Given the description of an element on the screen output the (x, y) to click on. 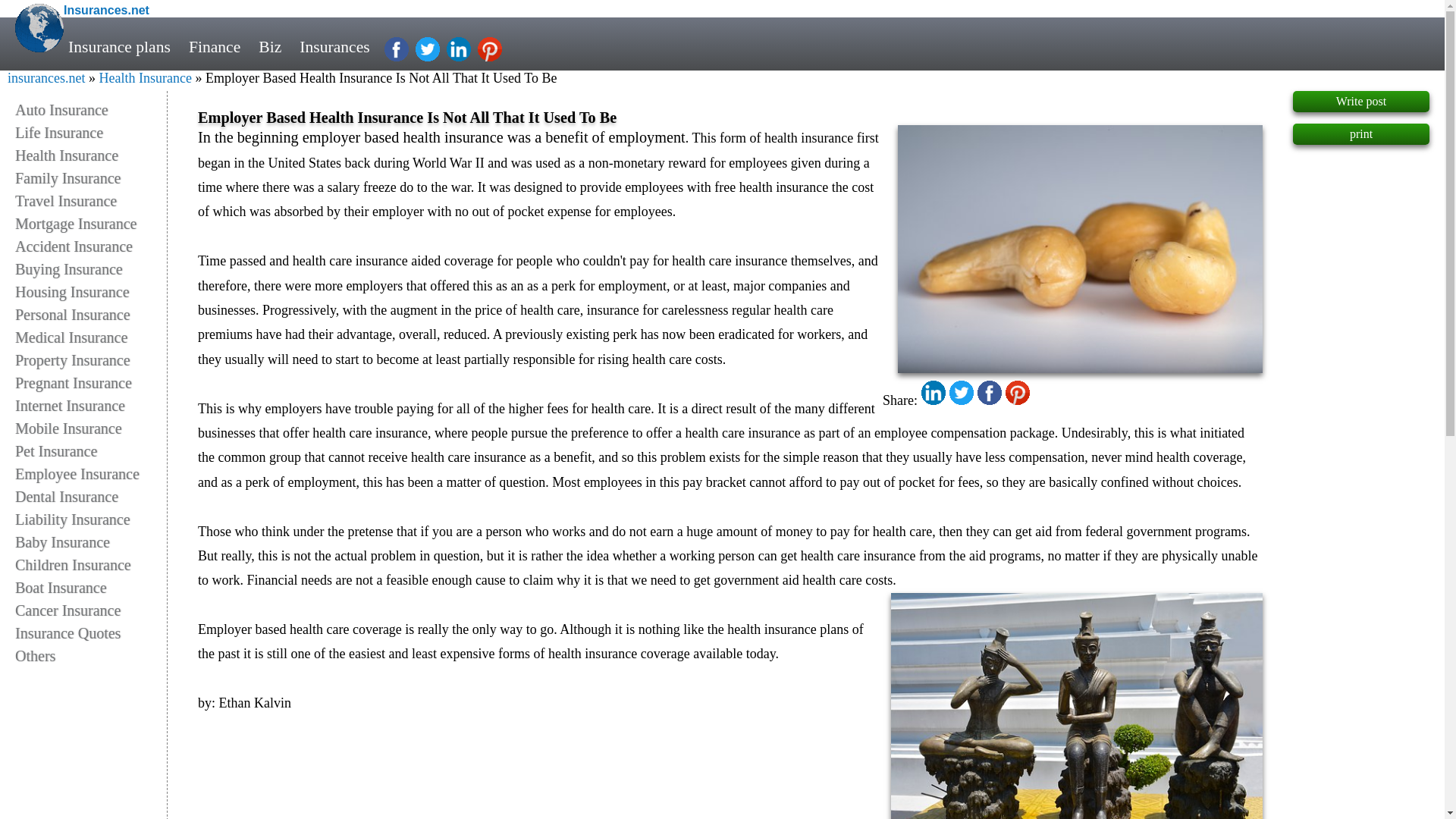
Pet Insurance (90, 450)
Life Insurance (90, 132)
Liability Insurance (90, 518)
Insurance plans (119, 46)
insurances.net (45, 77)
Medical Insurance (90, 336)
Biz (269, 46)
Insurance Quotes (90, 632)
Dental Insurance (90, 496)
Family Insurance (90, 178)
Housing Insurance (90, 291)
Children Insurance (90, 564)
Insurances (334, 46)
Health Insurance (144, 77)
Employee Insurance (90, 473)
